Given the description of an element on the screen output the (x, y) to click on. 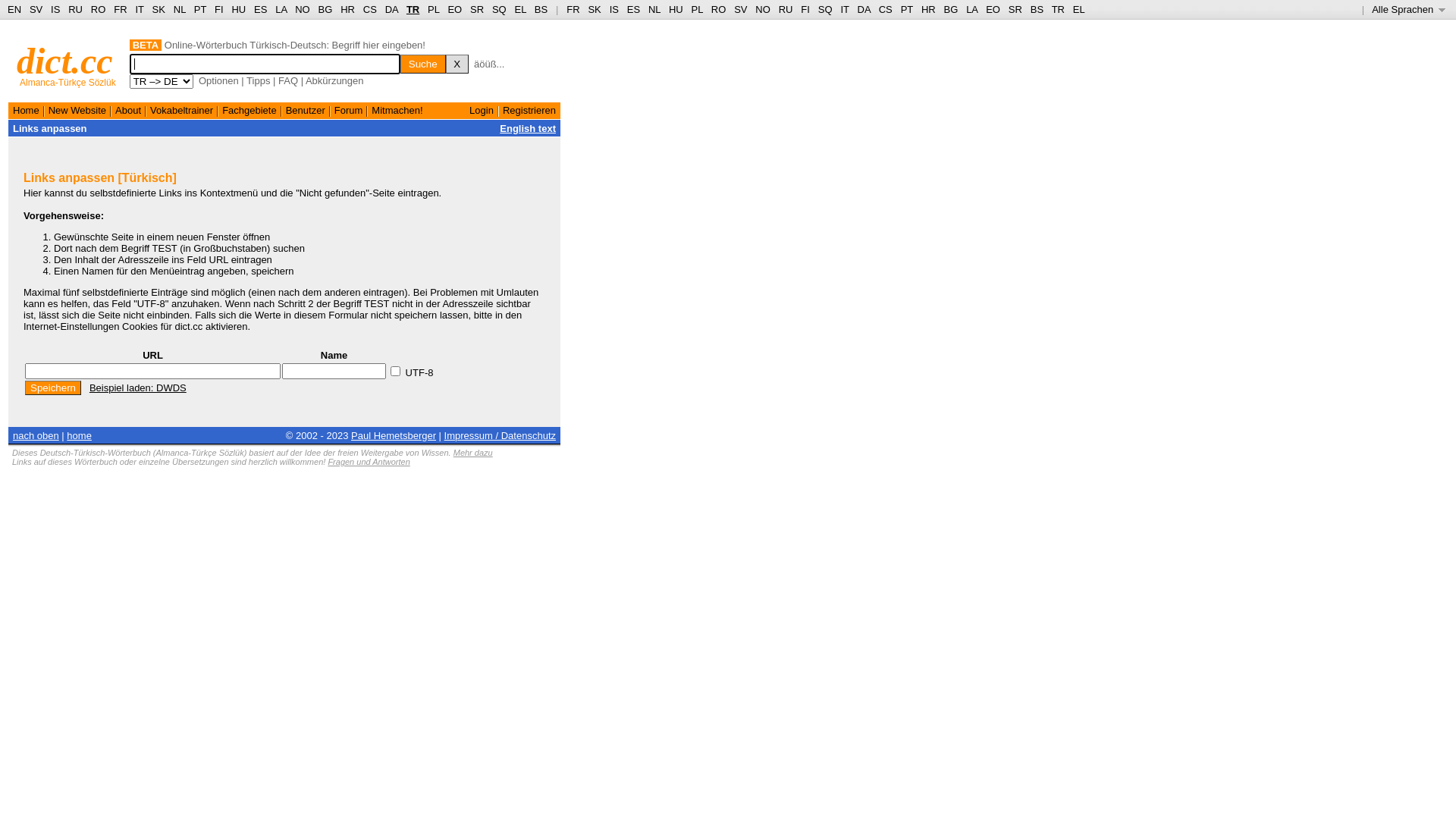
FAQ Element type: text (288, 80)
home Element type: text (78, 434)
NO Element type: text (762, 9)
PT Element type: text (906, 9)
Tipps Element type: text (257, 80)
FI Element type: text (804, 9)
Forum Element type: text (348, 110)
ES Element type: text (260, 9)
LA Element type: text (971, 9)
SV Element type: text (740, 9)
EL Element type: text (520, 9)
About Element type: text (128, 110)
SR Element type: text (1015, 9)
HR Element type: text (347, 9)
Login Element type: text (481, 110)
HU Element type: text (238, 9)
FR Element type: text (572, 9)
EO Element type: text (992, 9)
SQ Element type: text (825, 9)
SK Element type: text (593, 9)
Fragen und Antworten Element type: text (368, 461)
New Website Element type: text (77, 110)
Fachgebiete Element type: text (249, 110)
PT Element type: text (200, 9)
IT Element type: text (138, 9)
Impressum / Datenschutz Element type: text (499, 434)
Mehr dazu Element type: text (472, 452)
HU Element type: text (675, 9)
Optionen Element type: text (218, 80)
FI Element type: text (218, 9)
FR Element type: text (119, 9)
TR Element type: text (412, 9)
BS Element type: text (1036, 9)
Speichern Element type: text (53, 387)
SQ Element type: text (499, 9)
Alle Sprachen  Element type: text (1408, 9)
X Element type: text (456, 63)
RO Element type: text (718, 9)
DA Element type: text (863, 9)
DA Element type: text (391, 9)
IS Element type: text (54, 9)
PL Element type: text (696, 9)
TR Element type: text (1057, 9)
Registrieren Element type: text (528, 110)
Vokabeltrainer Element type: text (181, 110)
NL Element type: text (179, 9)
BG Element type: text (950, 9)
BS Element type: text (540, 9)
IT Element type: text (844, 9)
Home Element type: text (25, 110)
SK Element type: text (158, 9)
EN Element type: text (14, 9)
Paul Hemetsberger Element type: text (393, 434)
ES Element type: text (633, 9)
BG Element type: text (325, 9)
Mitmachen! Element type: text (396, 110)
PL Element type: text (433, 9)
CS Element type: text (369, 9)
Suche Element type: text (422, 63)
Benutzer Element type: text (305, 110)
nach oben Element type: text (35, 434)
HR Element type: text (928, 9)
LA Element type: text (280, 9)
dict.cc Element type: text (64, 60)
EO Element type: text (454, 9)
Beispiel laden: DWDS Element type: text (137, 387)
English text Element type: text (527, 128)
RU Element type: text (75, 9)
SR Element type: text (476, 9)
EL Element type: text (1079, 9)
RU Element type: text (785, 9)
NO Element type: text (302, 9)
NL Element type: text (654, 9)
SV Element type: text (35, 9)
RO Element type: text (98, 9)
IS Element type: text (613, 9)
CS Element type: text (885, 9)
